Given the description of an element on the screen output the (x, y) to click on. 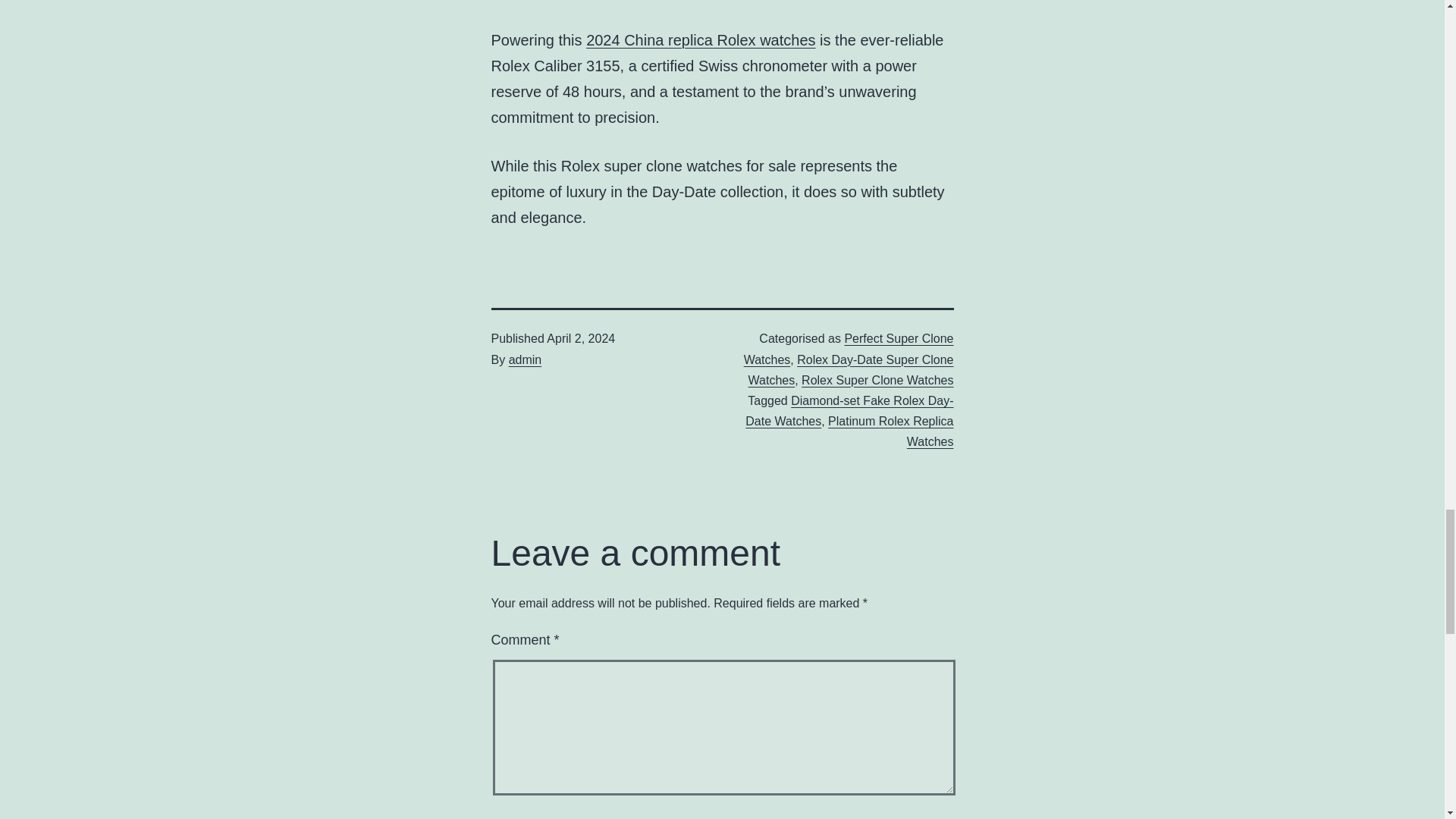
Diamond-set Fake Rolex Day-Date Watches (849, 410)
Rolex Day-Date Super Clone Watches (850, 369)
Platinum Rolex Replica Watches (890, 430)
Perfect Super Clone Watches (848, 348)
admin (524, 359)
Rolex Super Clone Watches (877, 379)
2024 China replica Rolex watches (700, 39)
